Given the description of an element on the screen output the (x, y) to click on. 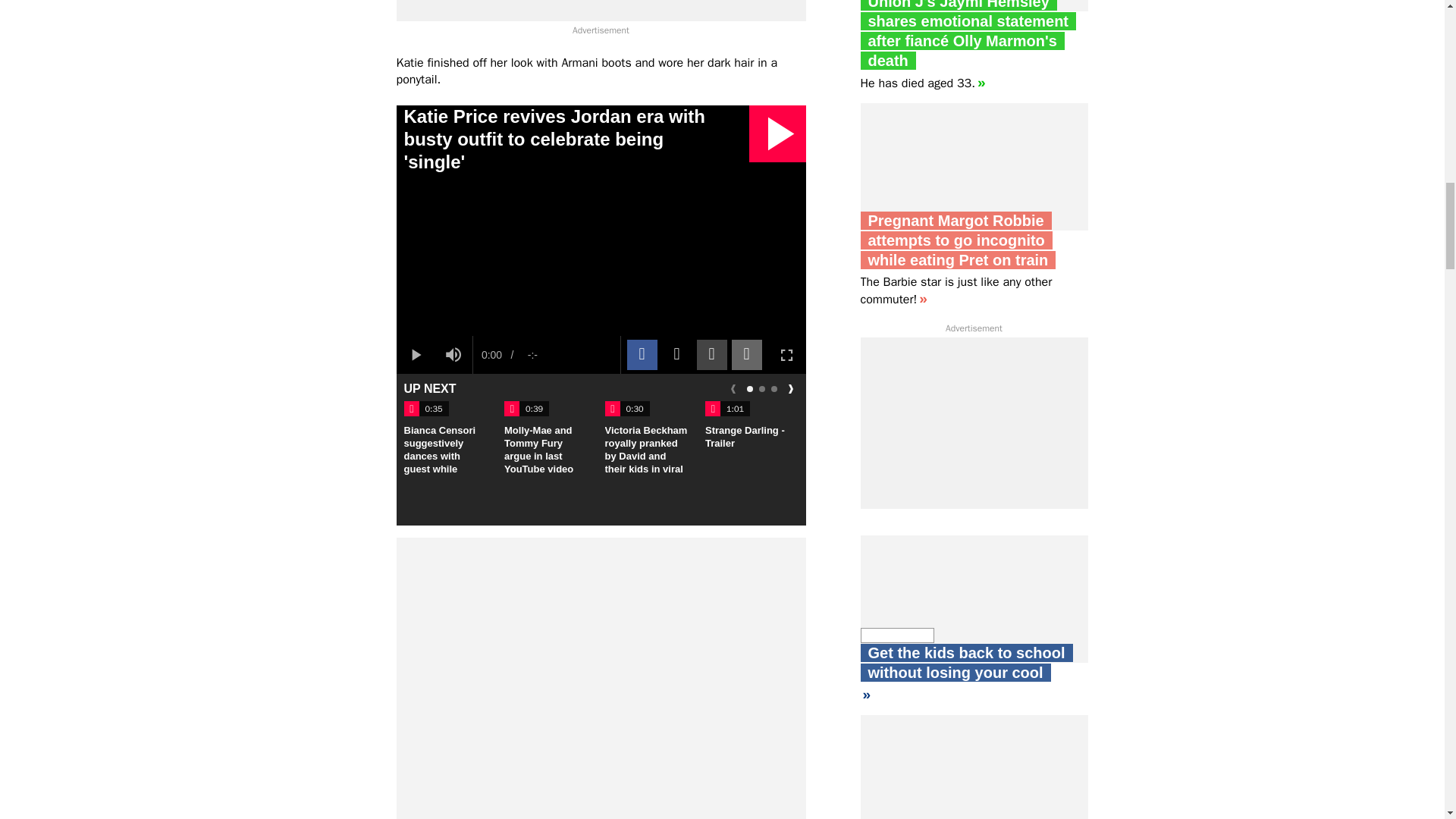
Mute (452, 354)
Fullscreen (786, 354)
Play Video (777, 133)
Play (414, 354)
